Given the description of an element on the screen output the (x, y) to click on. 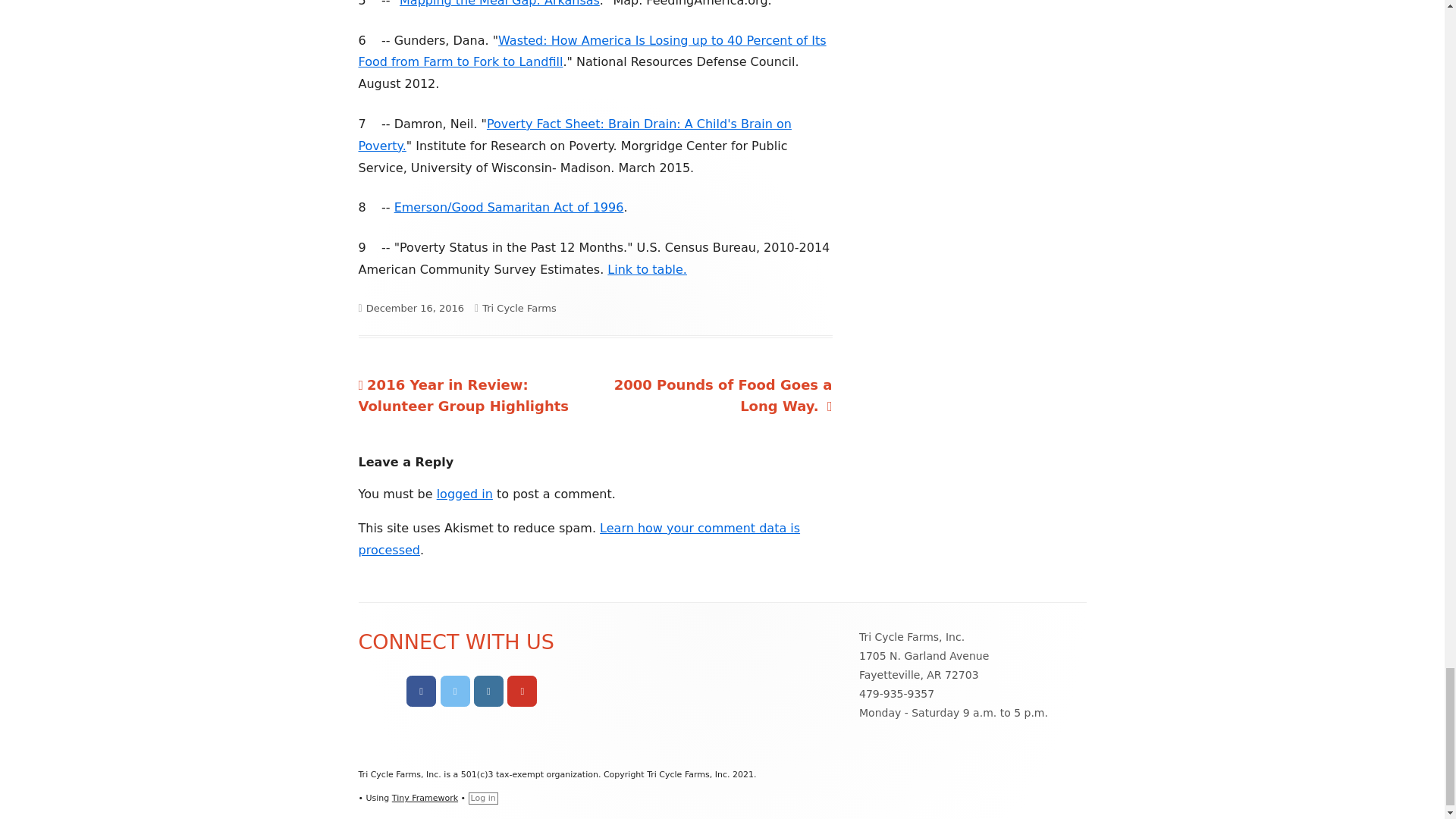
Mapping the Meal Gap: Arkansas (498, 3)
Tri Cycle Farms on X Twitter (455, 690)
Link to table. (647, 269)
Tri Cycle Farms on Youtube (521, 690)
Tri Cycle Farms on Instagram (488, 690)
Poverty Fact Sheet: Brain Drain: A Child's Brain on Poverty. (574, 135)
December 16, 2016 (415, 307)
Tri Cycle Farms on Facebook (420, 690)
Tri Cycle Farms (518, 307)
